Given the description of an element on the screen output the (x, y) to click on. 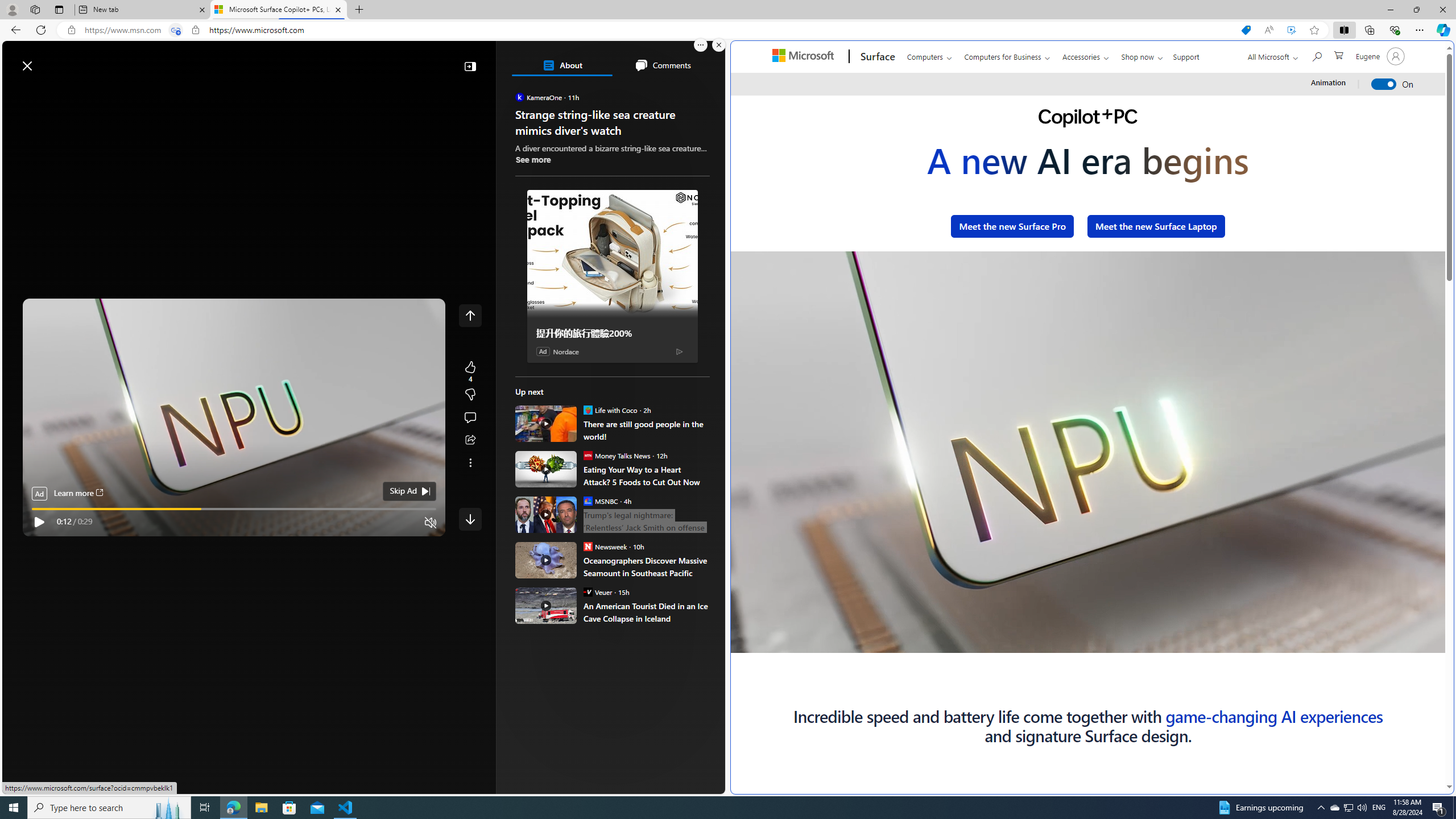
Copilot+ PC. (1088, 117)
Learn more (77, 493)
AutomationID: pause-svg (762, 621)
Meet the new Surface Laptop (1155, 225)
Collapse (469, 65)
